Given the description of an element on the screen output the (x, y) to click on. 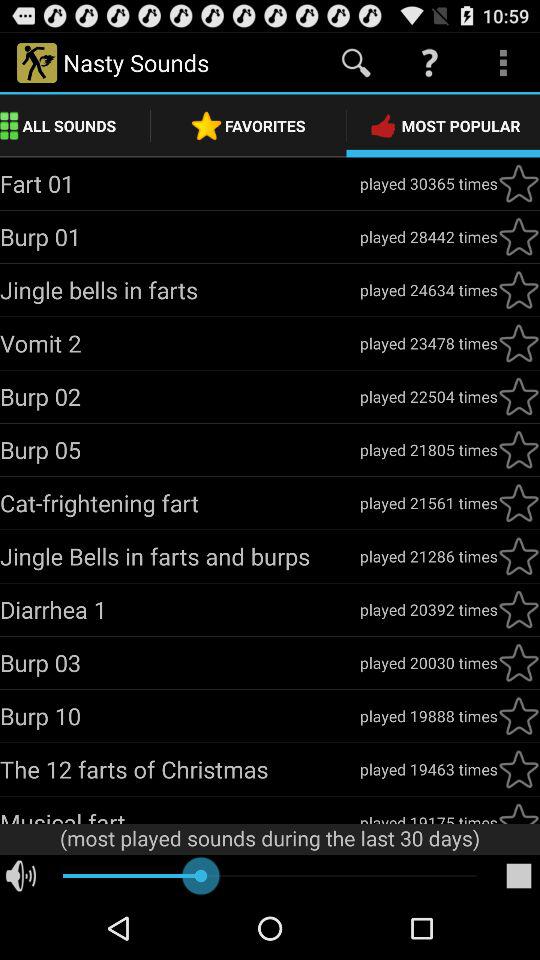
add to favorite button (519, 450)
